Given the description of an element on the screen output the (x, y) to click on. 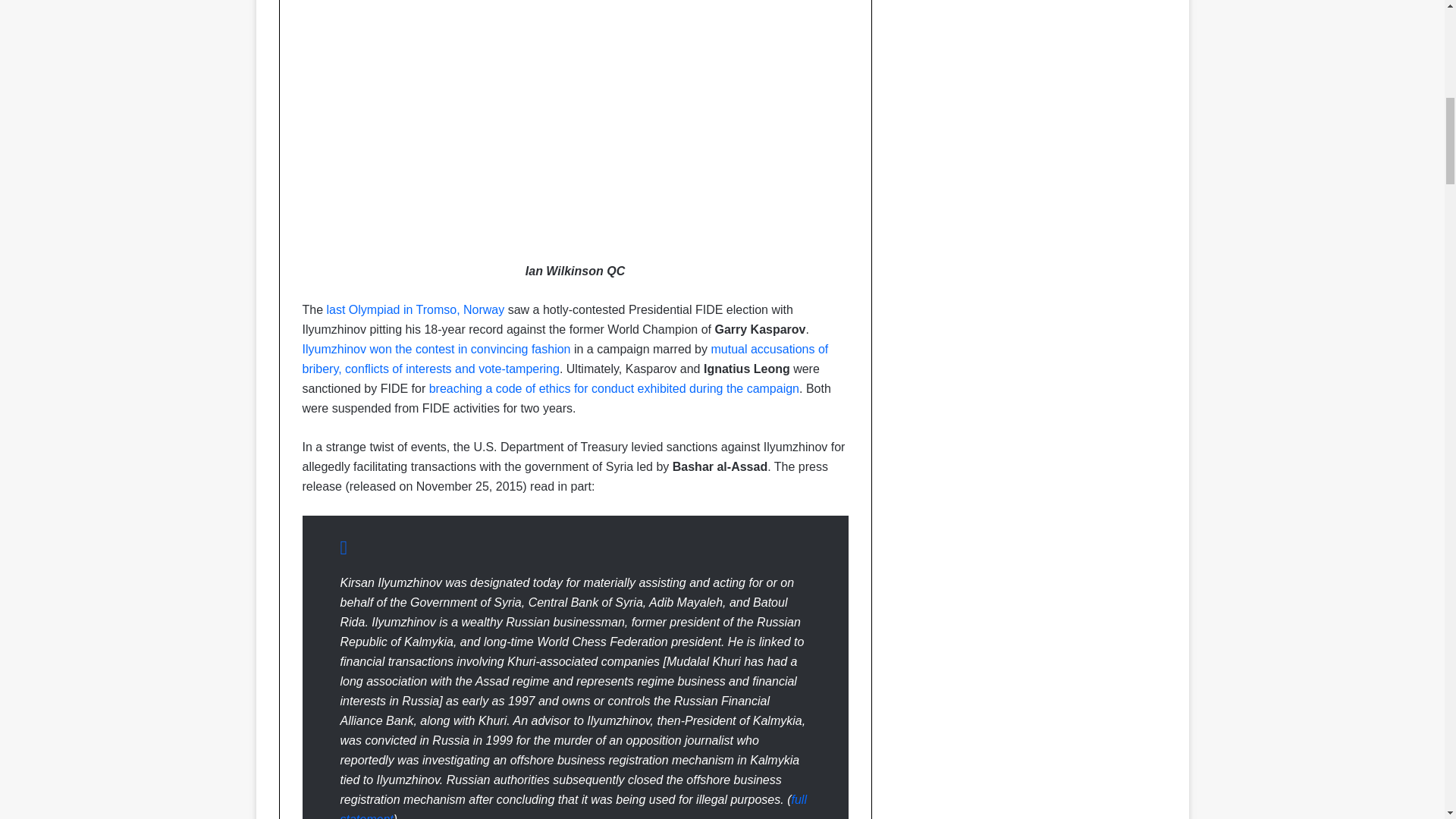
last Olympiad in Tromso, Norway (415, 309)
Ilyumzhinov won the contest in convincing fashion (435, 349)
